Given the description of an element on the screen output the (x, y) to click on. 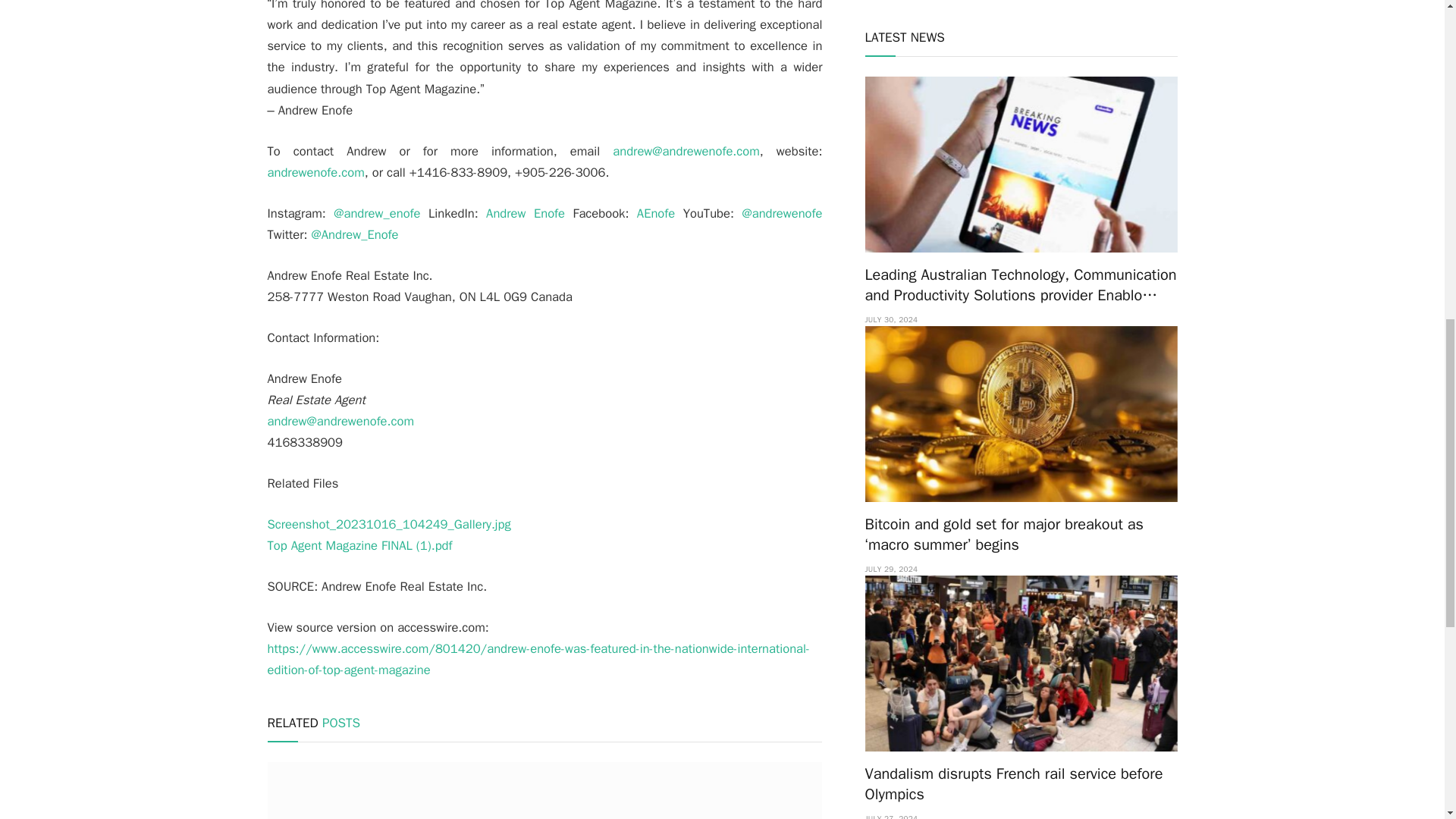
Andrew Enofe (525, 213)
AEnofe (656, 213)
andrewenofe.com (315, 172)
